Given the description of an element on the screen output the (x, y) to click on. 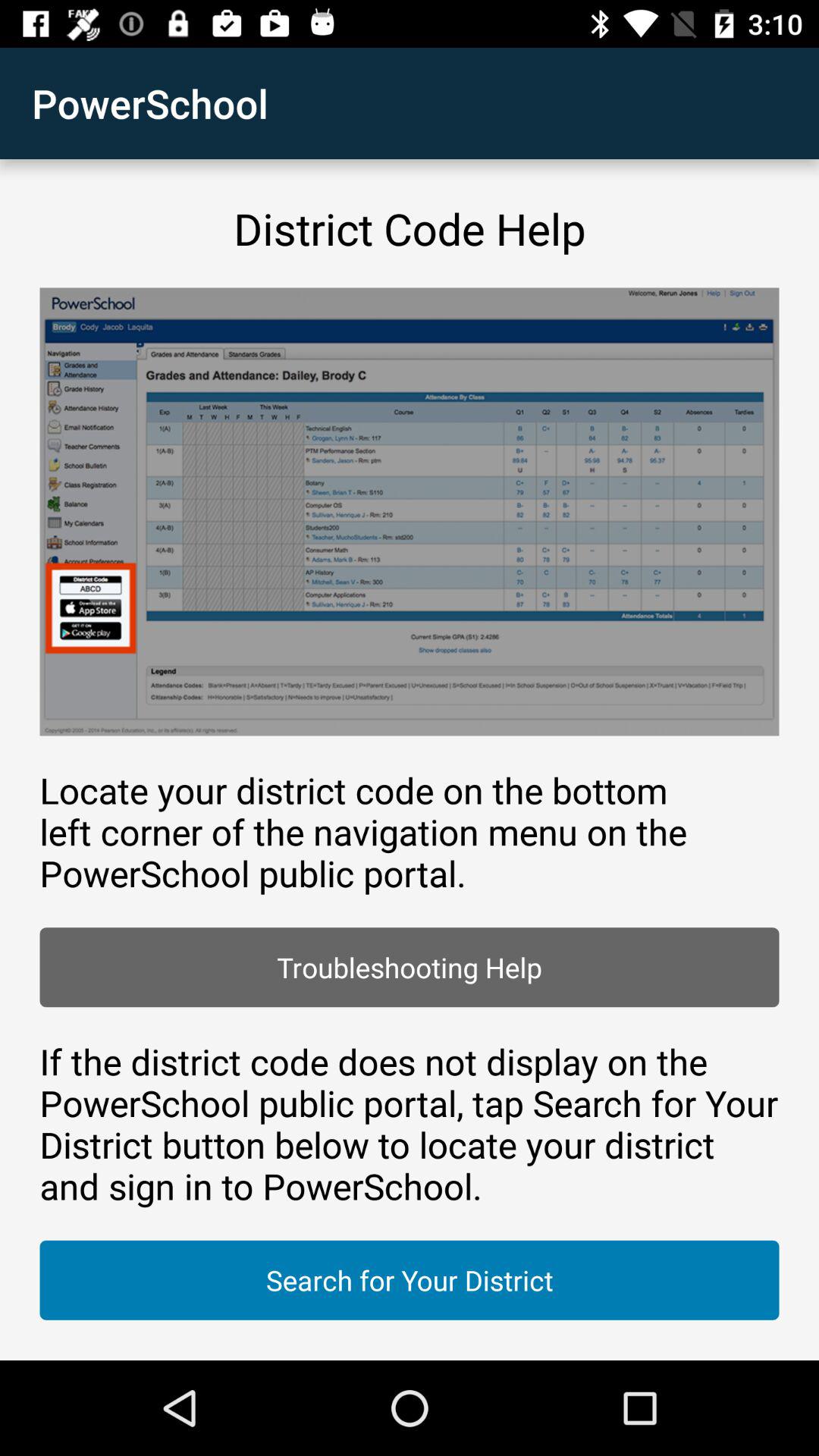
flip until troubleshooting help icon (409, 967)
